Given the description of an element on the screen output the (x, y) to click on. 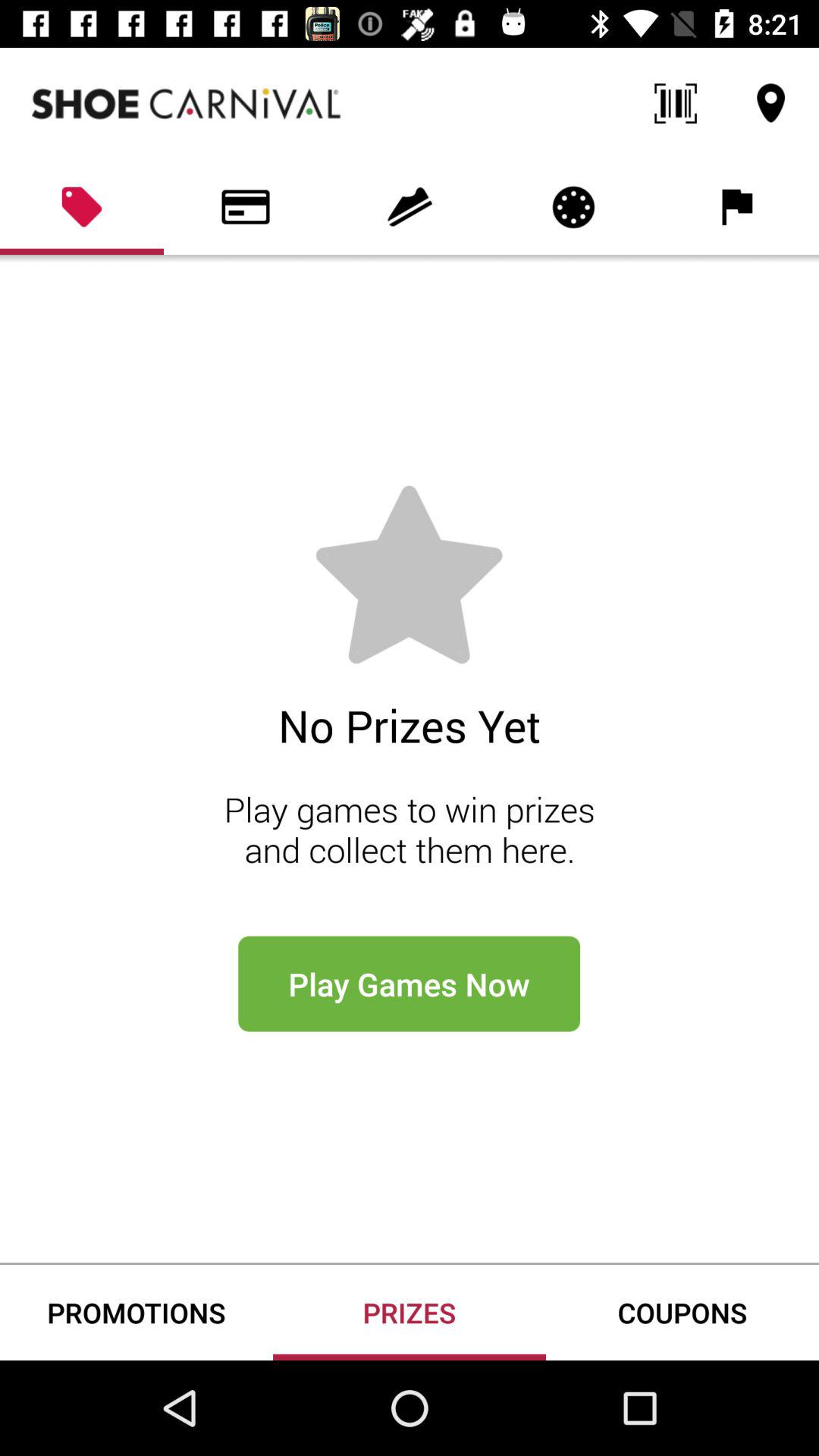
select the card icon which is below the carnival (245, 207)
select the star icon which is above the no prizes yet (408, 575)
select the icon which is second right to the tag icon (409, 207)
select the icon which is on the top and below the barcode icon (573, 207)
select the barcode icon which is on the top next to carnival (675, 103)
